Given the description of an element on the screen output the (x, y) to click on. 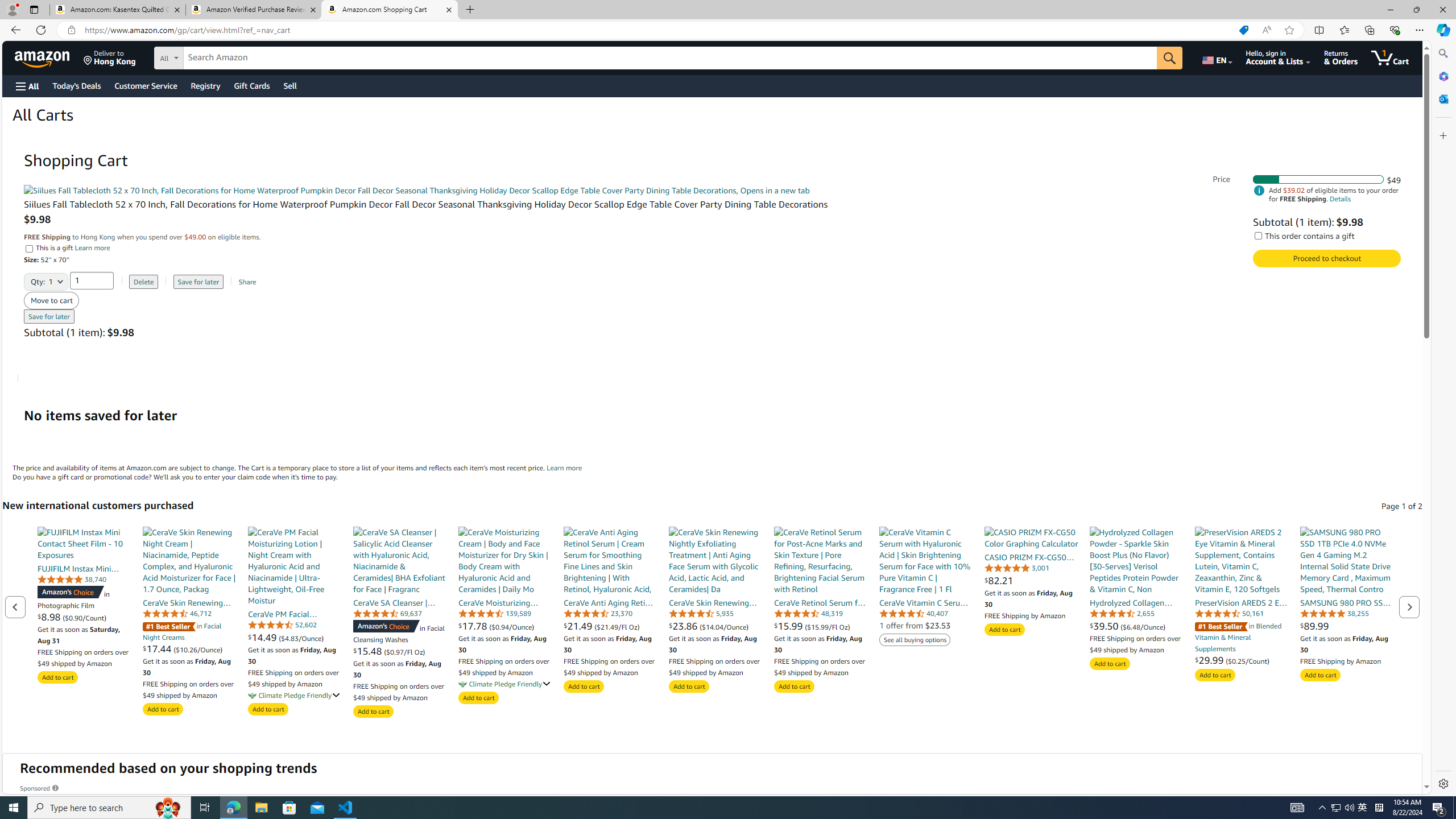
Shopping Cart Learn more (564, 466)
Details (1340, 198)
Proceed to checkout Check out Amazon Cart (1326, 258)
Climate Pledge Friendly (462, 683)
$23.86  (684, 625)
($0.25/Count) (1247, 660)
($10.26/Ounce) (197, 648)
